Given the description of an element on the screen output the (x, y) to click on. 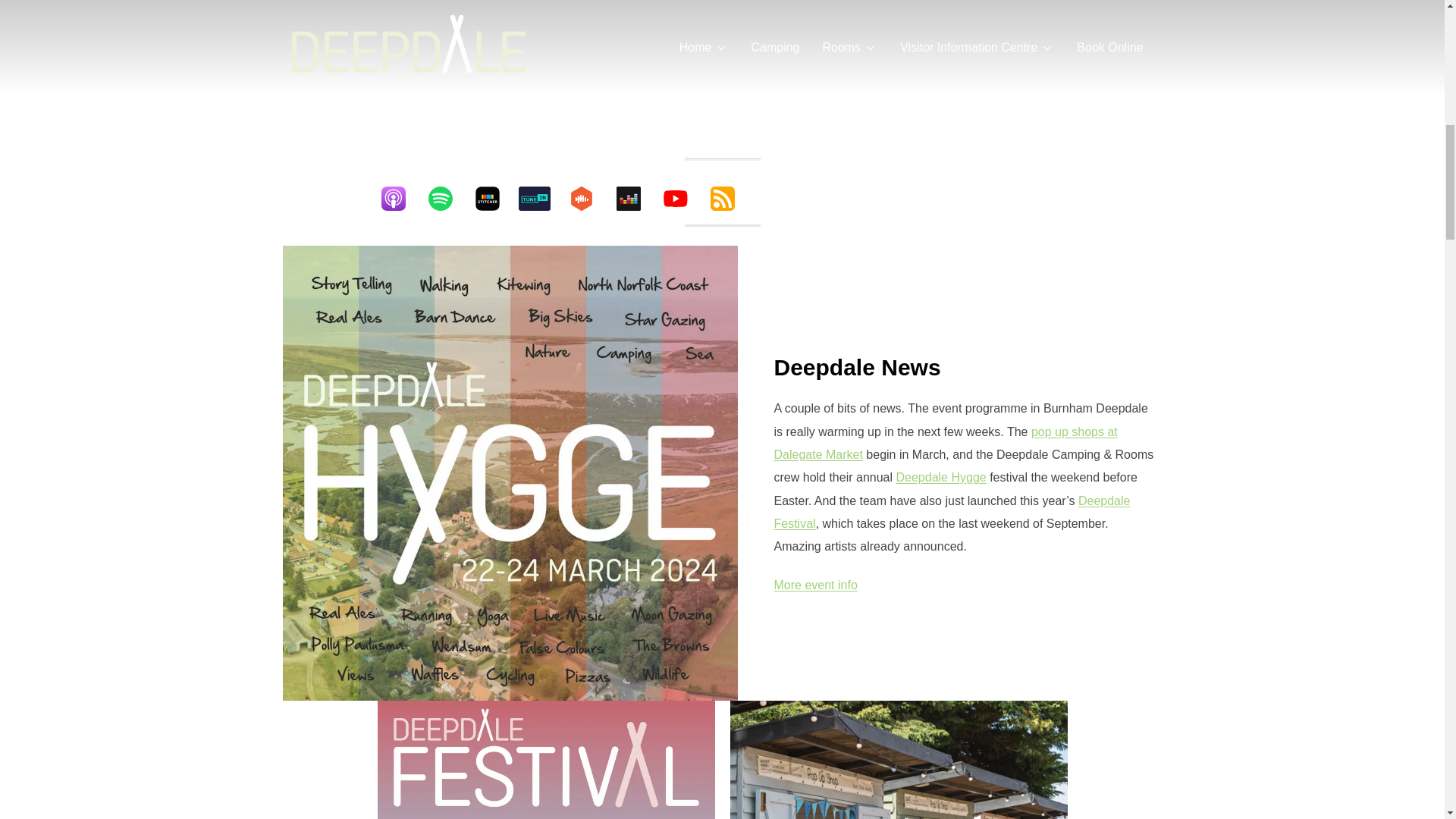
YouTube (682, 198)
TuneIn (542, 198)
CastBox (589, 198)
Apple-Podcasts (401, 198)
Spotify (448, 198)
Stitcher (494, 198)
RSS (730, 198)
Deezer (635, 198)
